Given the description of an element on the screen output the (x, y) to click on. 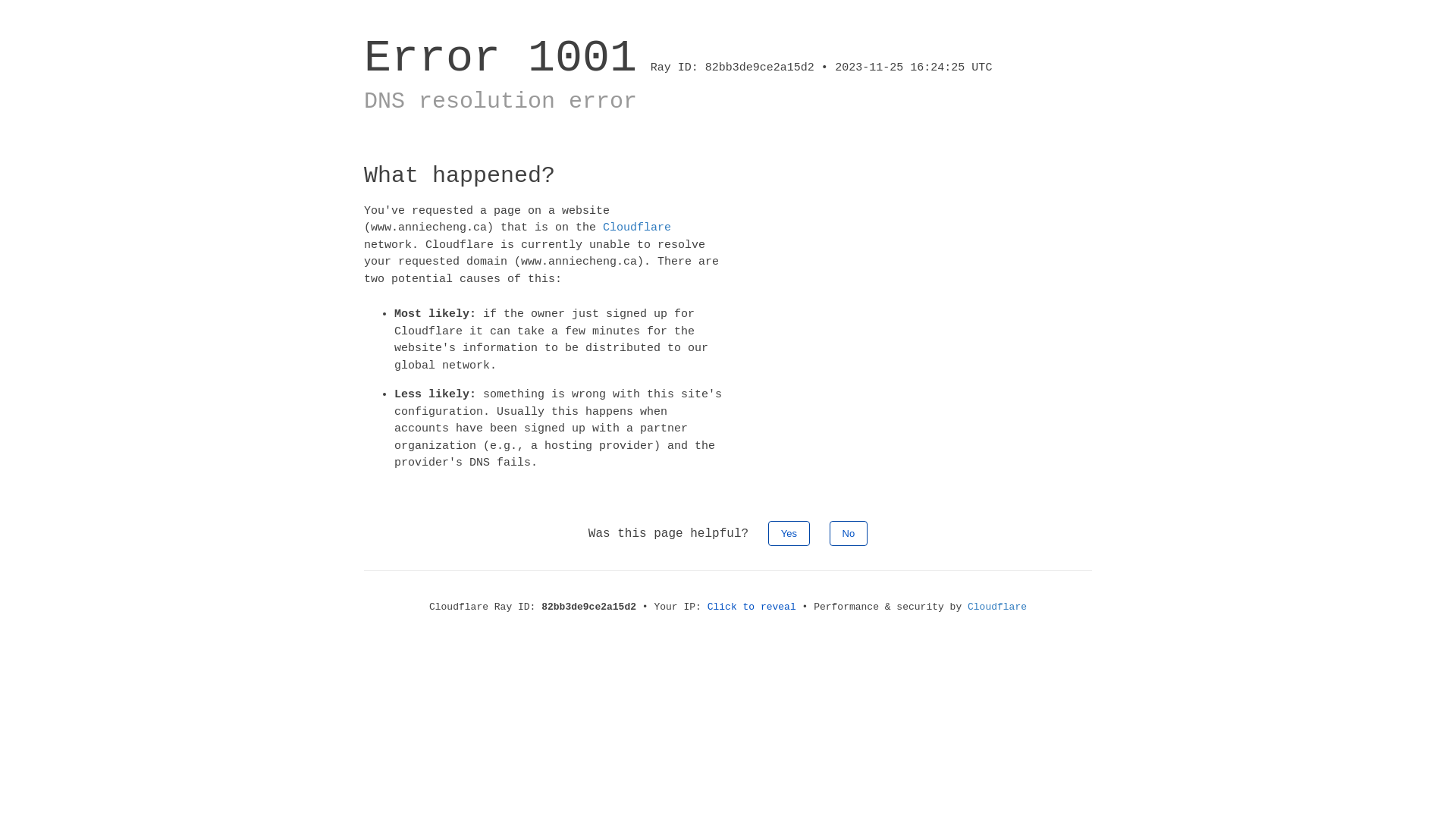
Yes Element type: text (788, 532)
Click to reveal Element type: text (751, 605)
Cloudflare Element type: text (996, 605)
No Element type: text (848, 532)
Cloudflare Element type: text (636, 227)
